Given the description of an element on the screen output the (x, y) to click on. 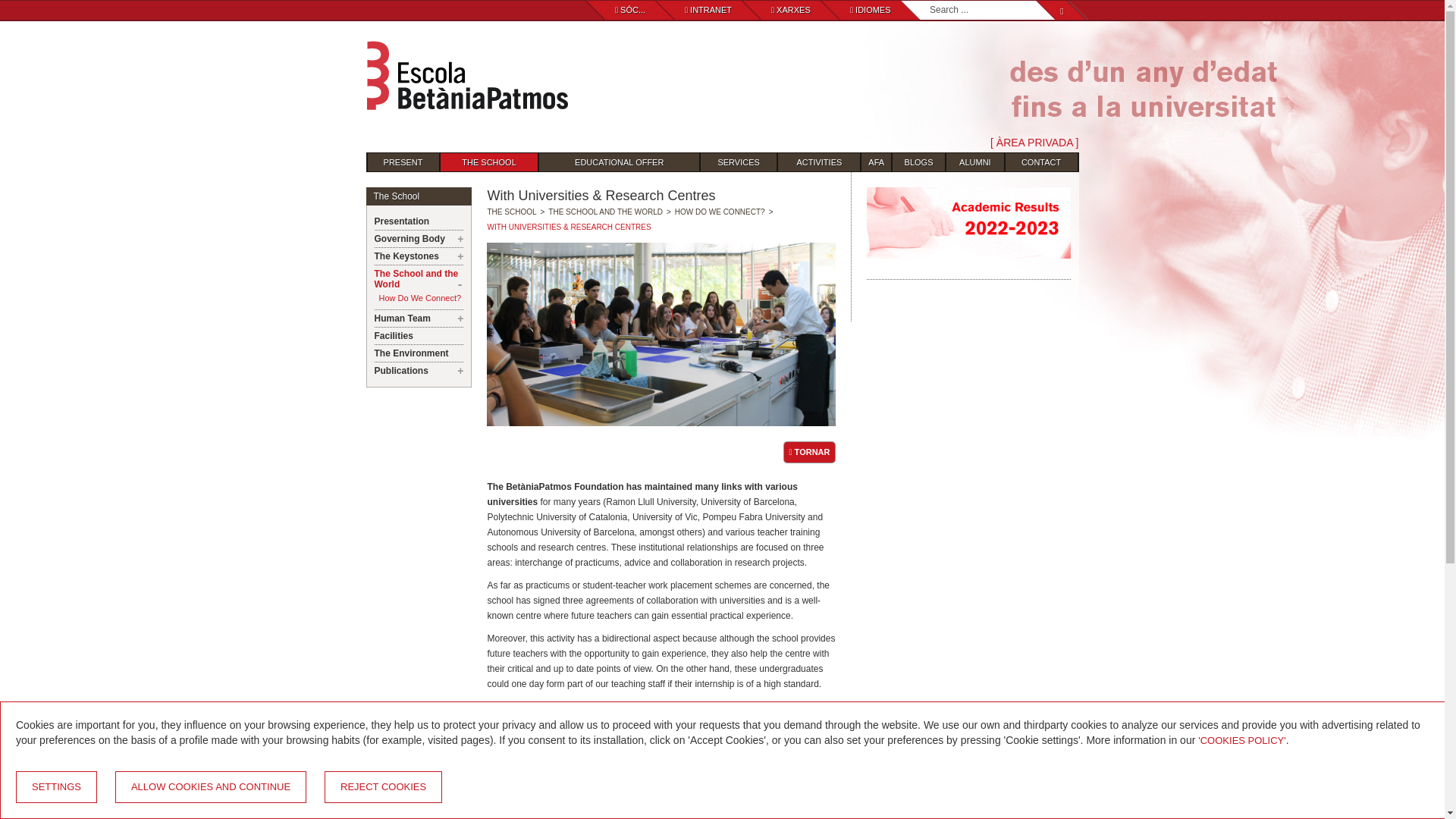
Search ... (986, 9)
com (809, 452)
Search ... (986, 9)
IDIOMES (870, 9)
INTRANET (708, 9)
XARXES (790, 9)
